Given the description of an element on the screen output the (x, y) to click on. 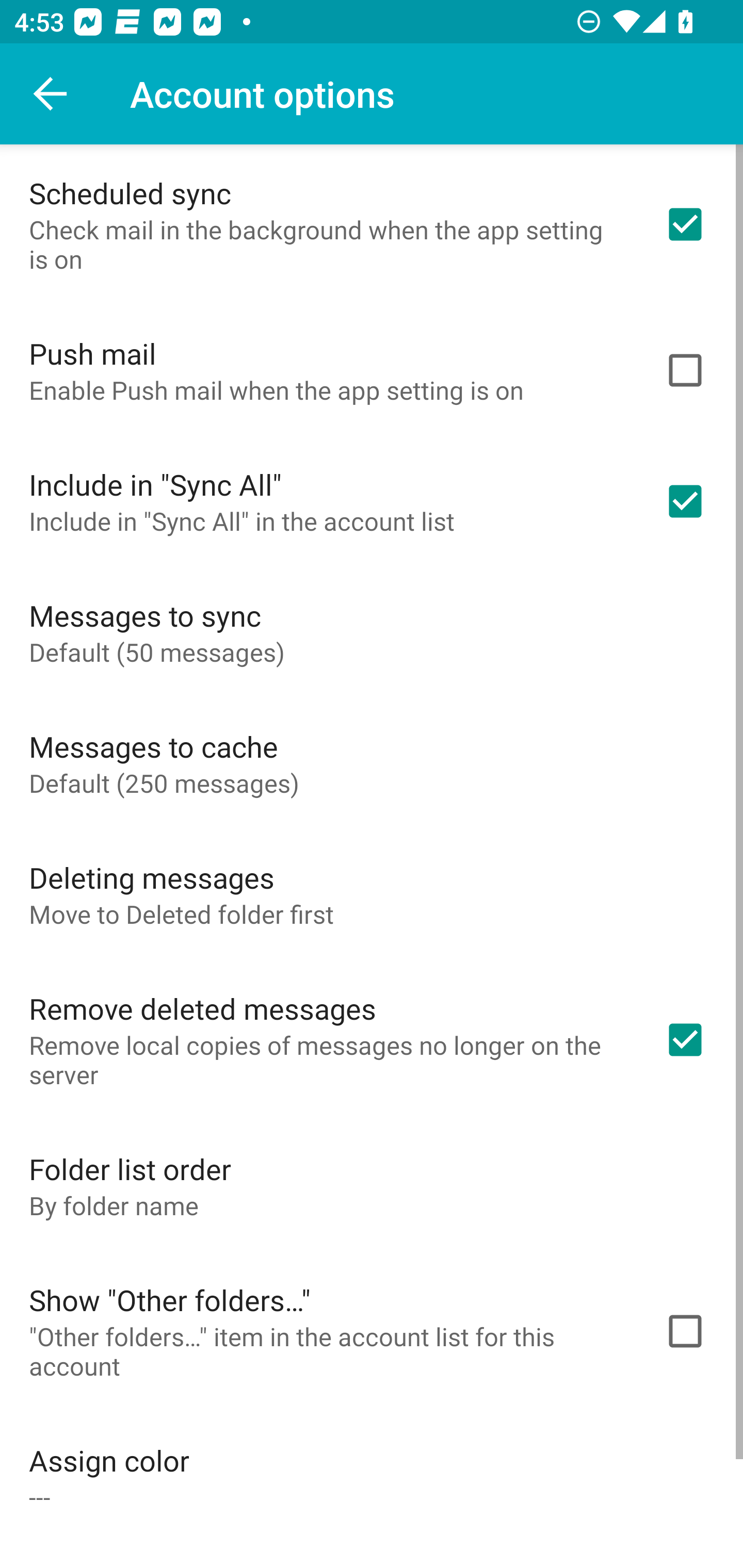
Navigate up (50, 93)
Messages to sync Default (50 messages) (371, 632)
Messages to cache Default (250 messages) (371, 763)
Deleting messages Move to Deleted folder first (371, 894)
Folder list order By folder name (371, 1185)
Assign color --- (371, 1476)
